Given the description of an element on the screen output the (x, y) to click on. 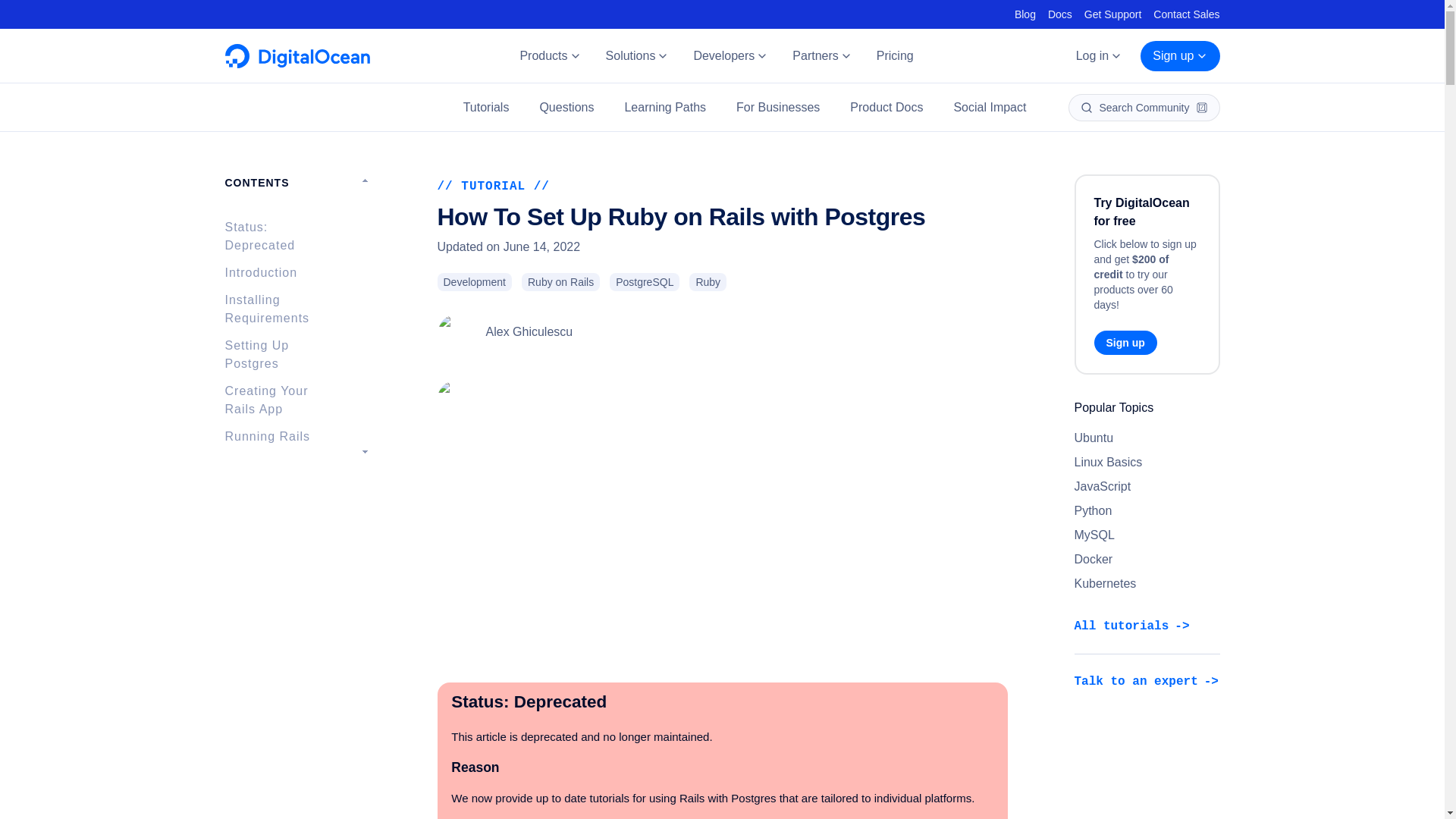
Docs (1059, 14)
Get Support (1112, 14)
Contact Sales (1186, 14)
PostgreSQL (644, 281)
Development (474, 281)
Products (549, 55)
DigitalOcean (296, 63)
Ruby on Rails (560, 281)
Blog (1024, 14)
